Given the description of an element on the screen output the (x, y) to click on. 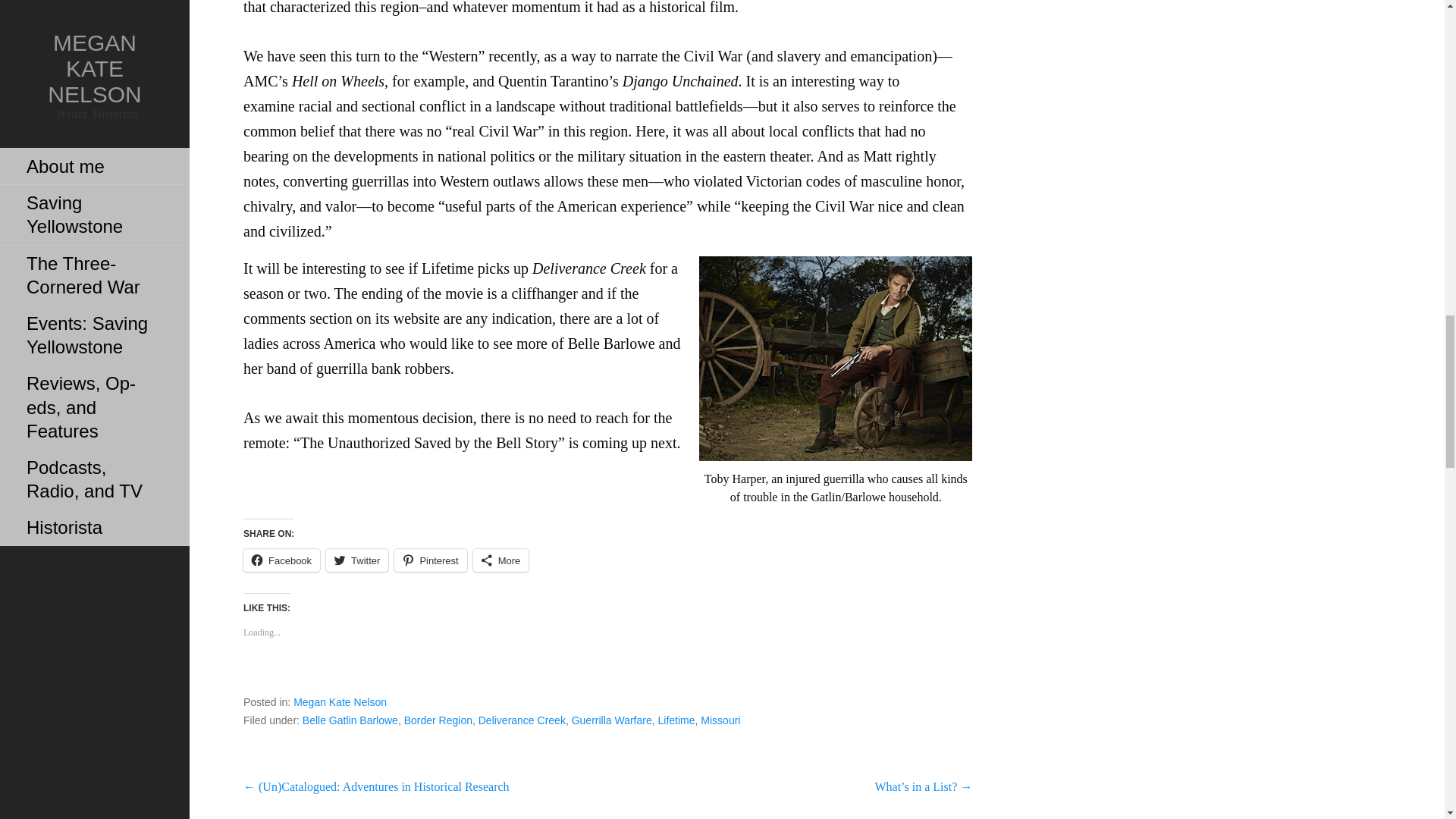
Click to share on Facebook (281, 559)
Missouri (719, 720)
Twitter (357, 559)
Megan Kate Nelson (340, 702)
Pinterest (429, 559)
Border Region (437, 720)
More (501, 559)
Belle Gatlin Barlowe (349, 720)
Guerrilla Warfare (612, 720)
Click to share on Pinterest (429, 559)
